Given the description of an element on the screen output the (x, y) to click on. 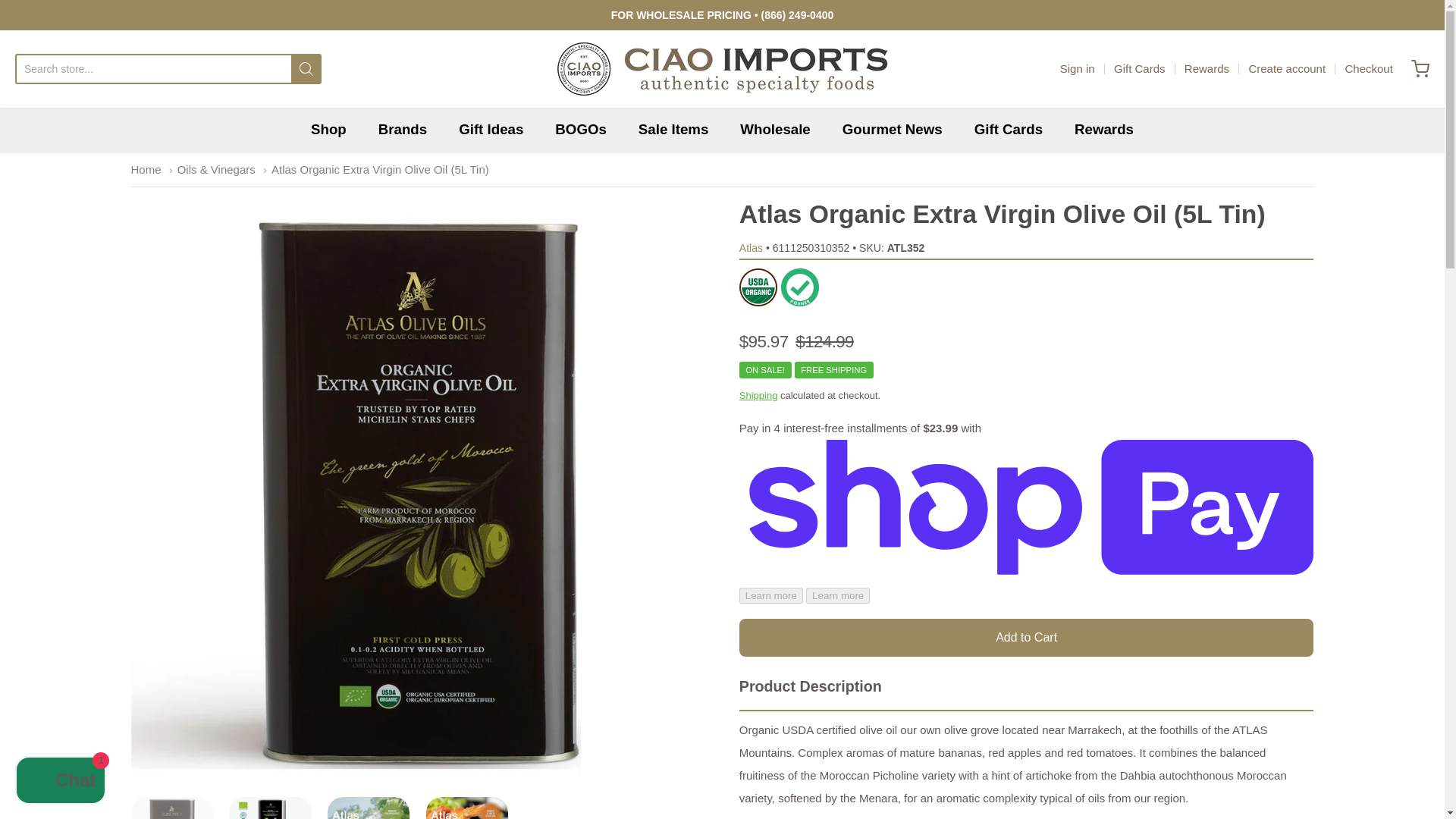
Sign in (1076, 68)
Brands (402, 128)
Gift Ideas (490, 128)
Wholesale (774, 128)
BOGOs (580, 128)
Gourmet News (892, 128)
Sale Items (673, 128)
Ciao Imports - Authentic Specialty Foods (721, 68)
Gift Cards (1139, 68)
Rewards (1104, 128)
Create account (1285, 68)
Rewards (1206, 68)
Home (145, 169)
Checkout (1367, 68)
Shop (328, 128)
